Given the description of an element on the screen output the (x, y) to click on. 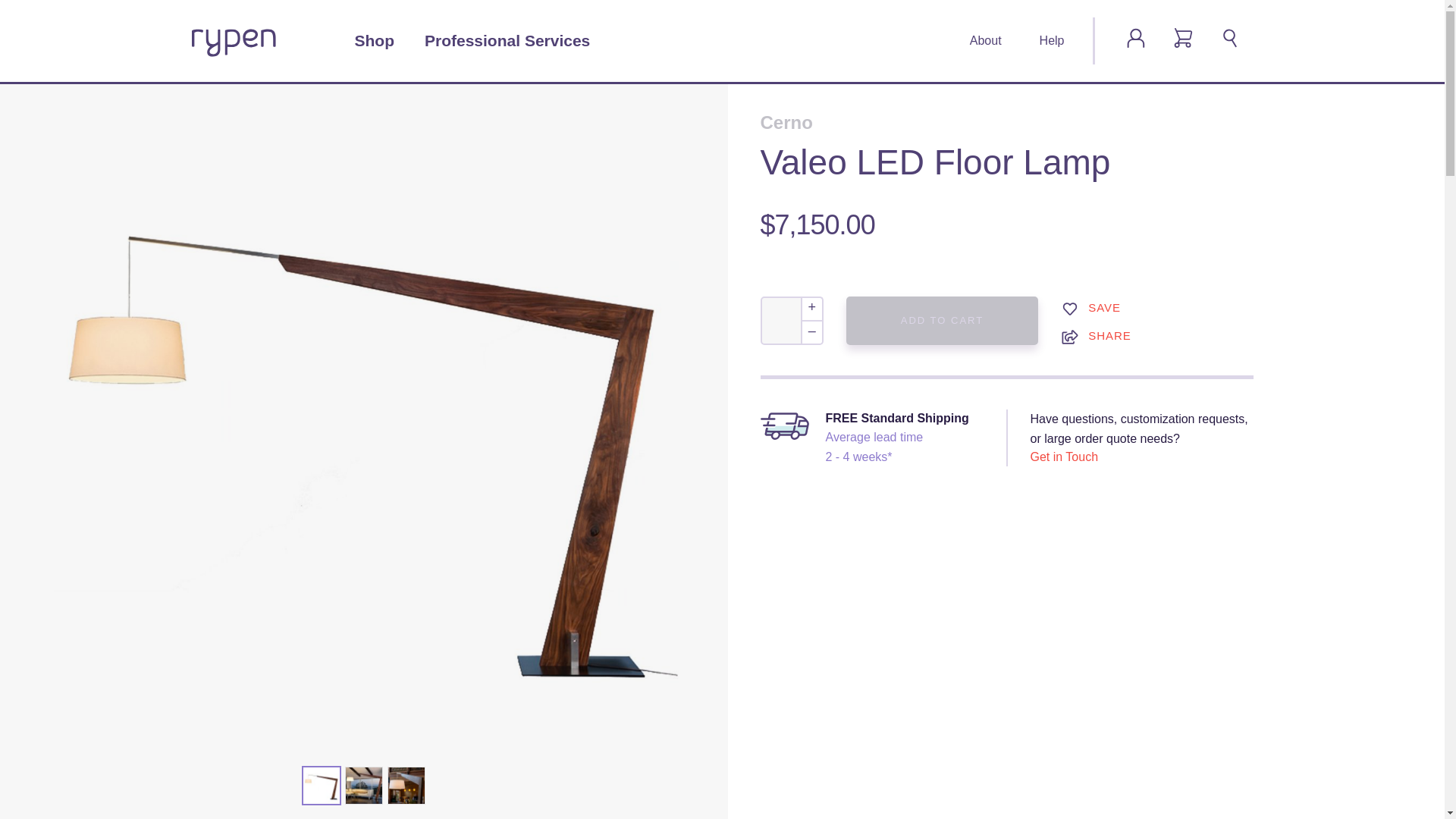
Professional Services (507, 40)
Get in Touch (1063, 456)
Help (1051, 40)
Shop (374, 40)
ADD TO CART (941, 320)
Cerno (1006, 122)
About (985, 40)
